Given the description of an element on the screen output the (x, y) to click on. 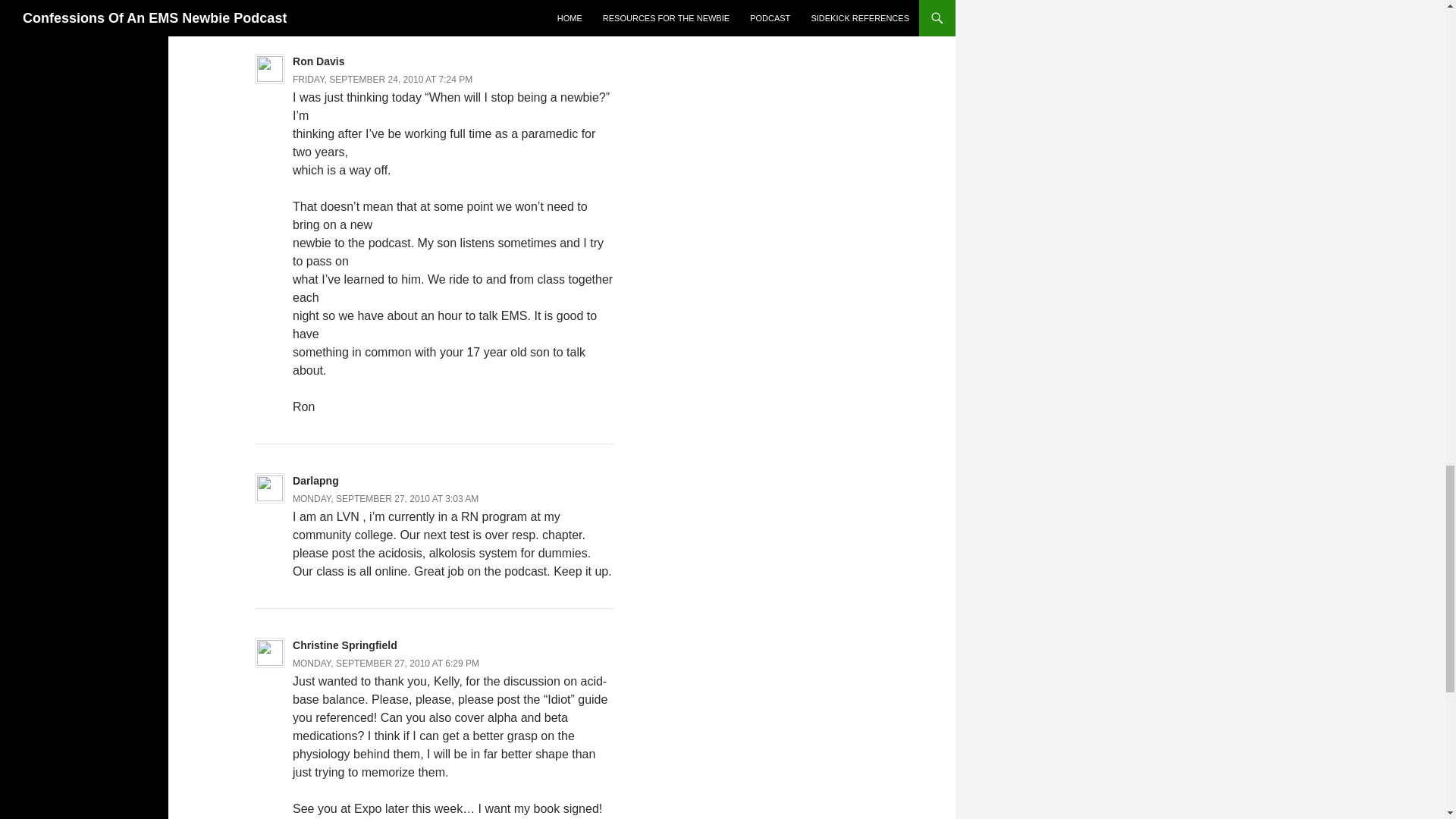
FRIDAY, SEPTEMBER 24, 2010 AT 7:24 PM (381, 79)
MONDAY, SEPTEMBER 27, 2010 AT 6:29 PM (385, 663)
Ron Davis (317, 61)
MONDAY, SEPTEMBER 27, 2010 AT 3:03 AM (385, 498)
